Given the description of an element on the screen output the (x, y) to click on. 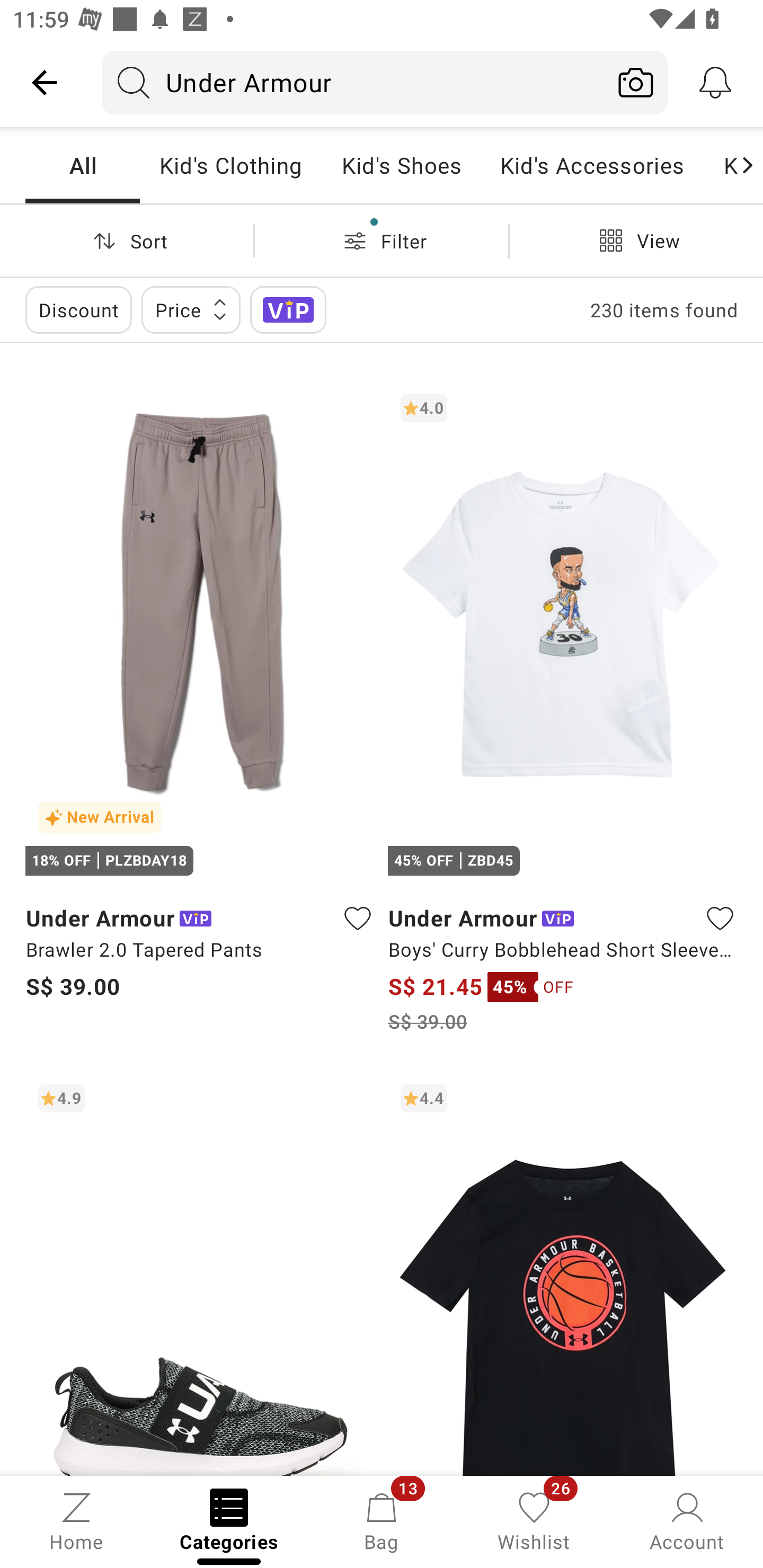
Navigate up (44, 82)
Under Armour (352, 82)
Kid's Clothing (230, 165)
Kid's Shoes (400, 165)
Kid's Accessories (591, 165)
Sort (126, 240)
Filter (381, 240)
View (636, 240)
Discount (78, 309)
Price (190, 309)
4.9 (200, 1272)
4.4 (562, 1272)
Home (76, 1519)
Bag, 13 new notifications Bag (381, 1519)
Wishlist, 26 new notifications Wishlist (533, 1519)
Account (686, 1519)
